Given the description of an element on the screen output the (x, y) to click on. 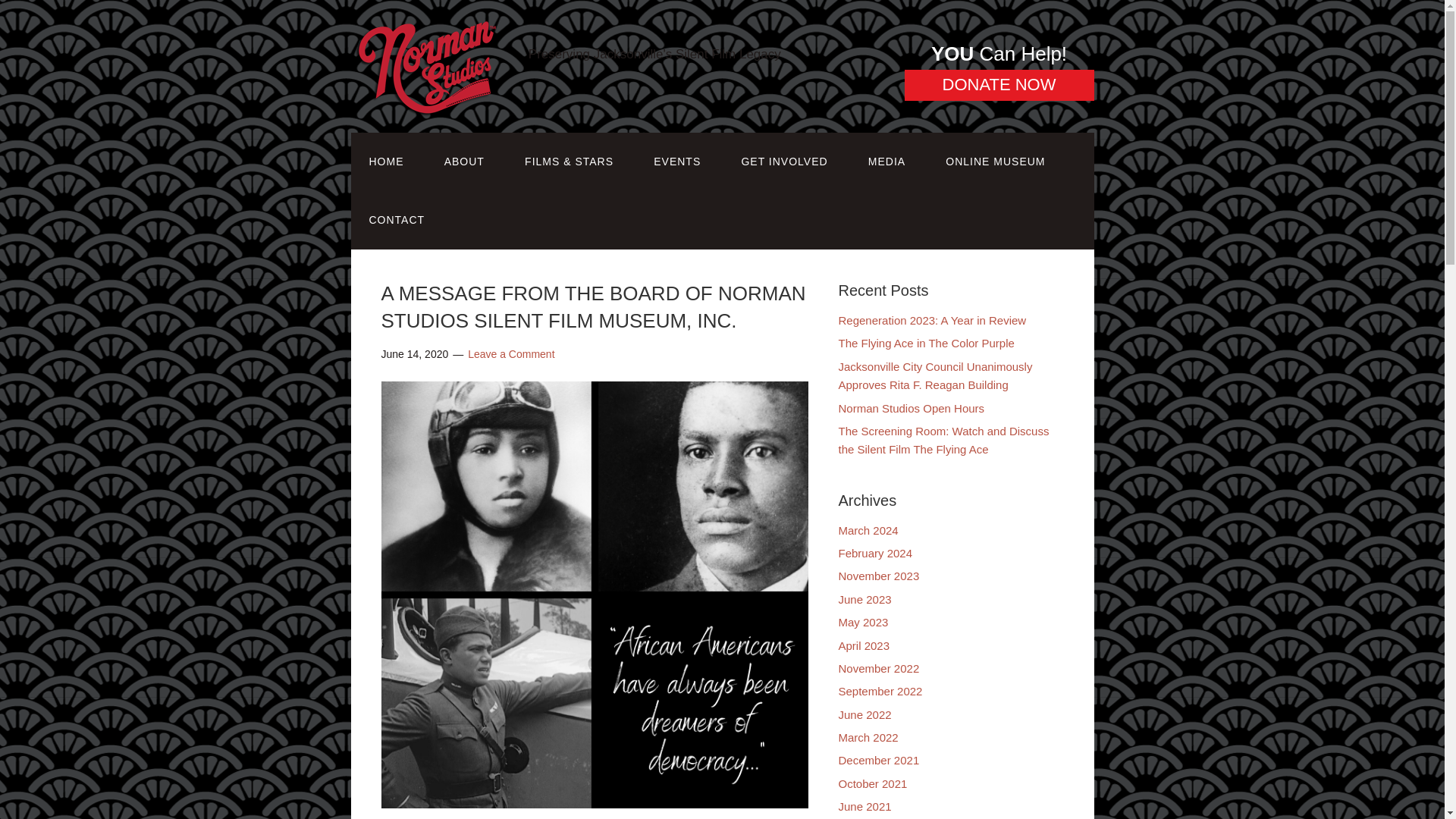
Norman Studios (426, 132)
HOME (386, 161)
DONATE NOW (999, 84)
EVENTS (676, 161)
GET INVOLVED (783, 161)
Sunday, June 14, 2020, 8:56 pm (414, 354)
ABOUT (464, 161)
